Given the description of an element on the screen output the (x, y) to click on. 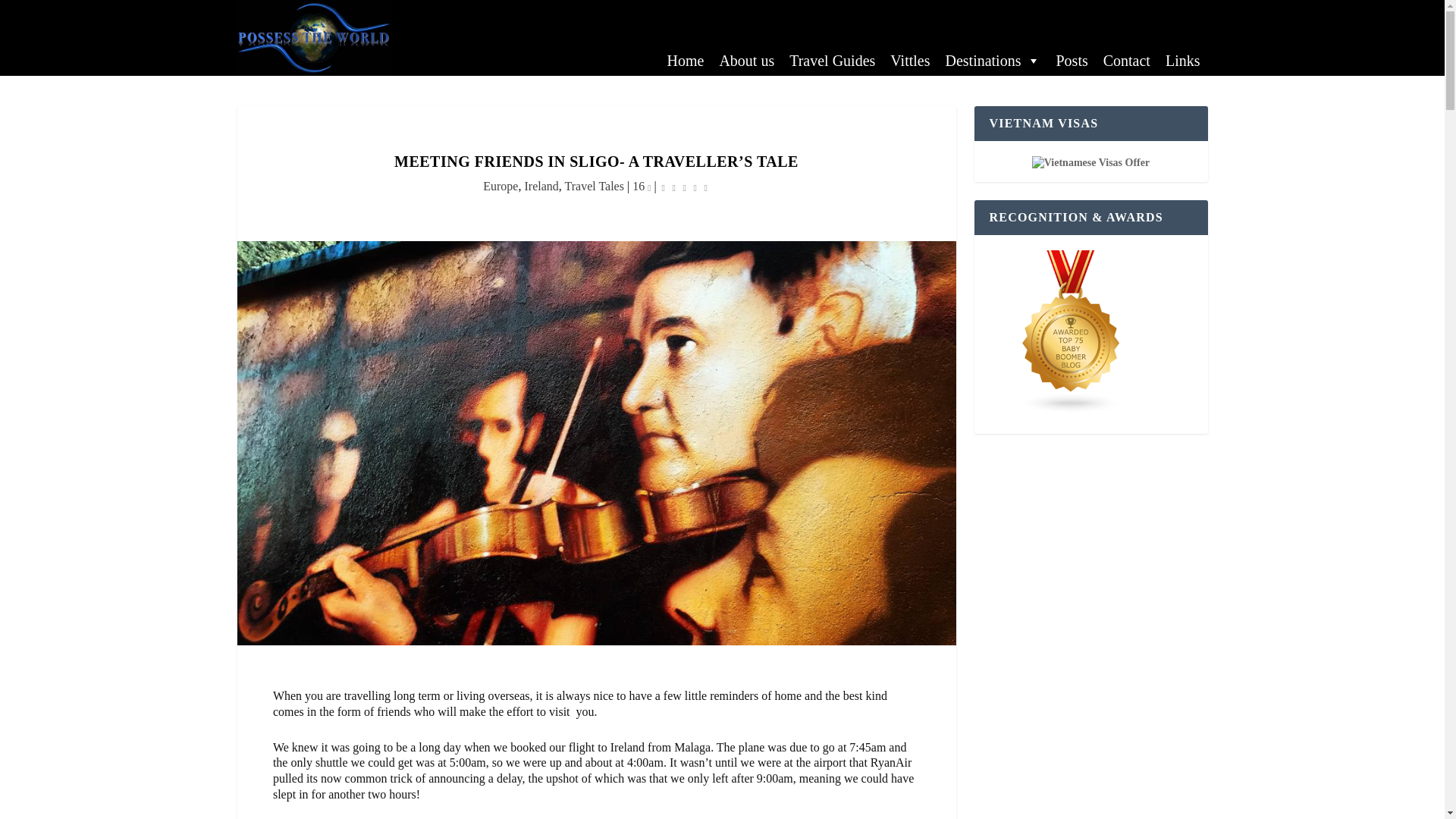
Destinations (992, 60)
Travel Tales (593, 185)
Home (685, 60)
About us (746, 60)
Ireland (540, 185)
16 (640, 185)
Links (1182, 60)
Europe (500, 185)
Travel Guides (831, 60)
Contact (1126, 60)
